Given the description of an element on the screen output the (x, y) to click on. 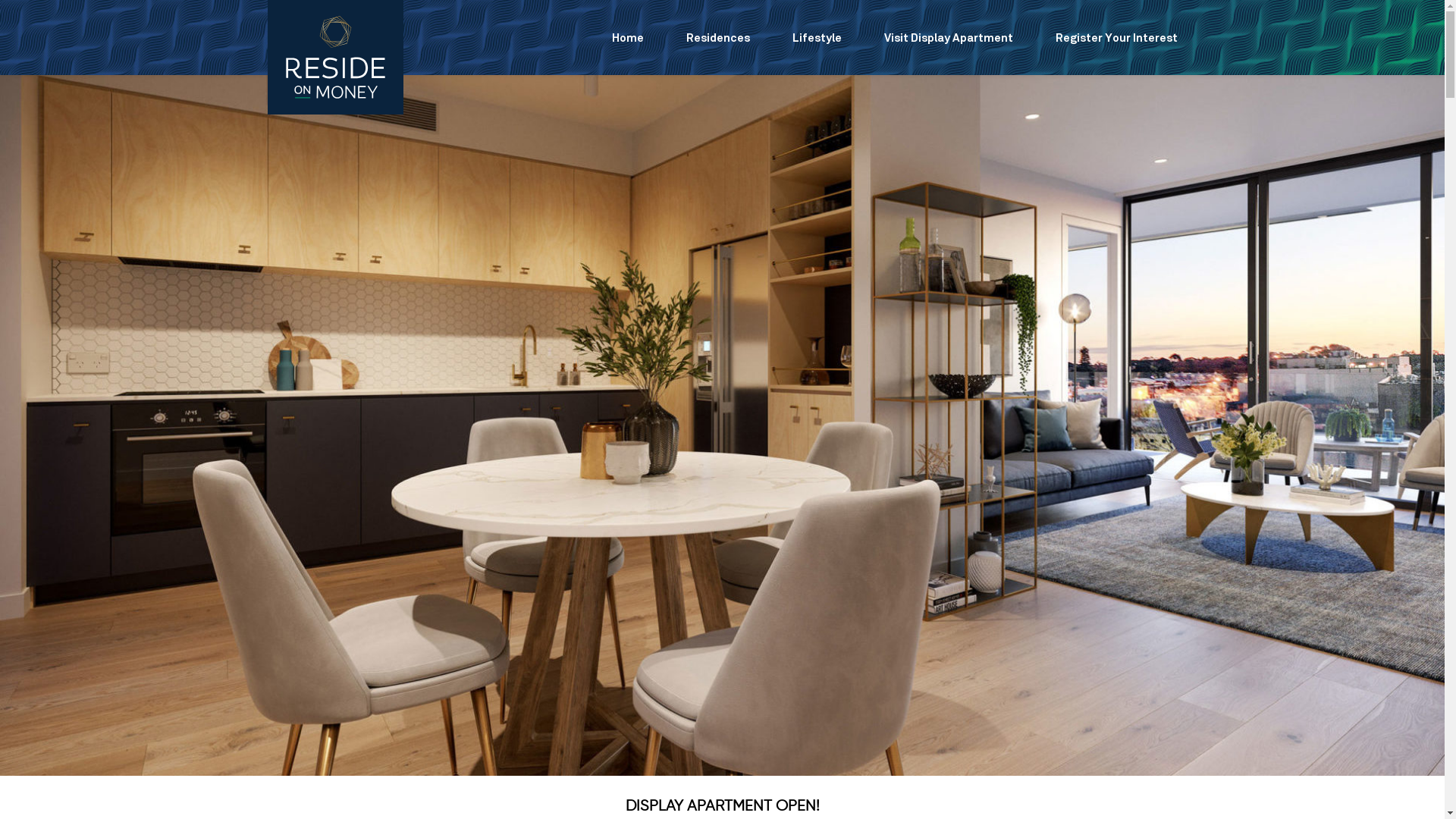
Residences Element type: text (717, 37)
Register Your Interest Element type: text (1116, 37)
Visit Display Apartment Element type: text (948, 37)
Home Element type: text (627, 37)
Lifestyle Element type: text (815, 37)
new-header Element type: hover (722, 414)
